Given the description of an element on the screen output the (x, y) to click on. 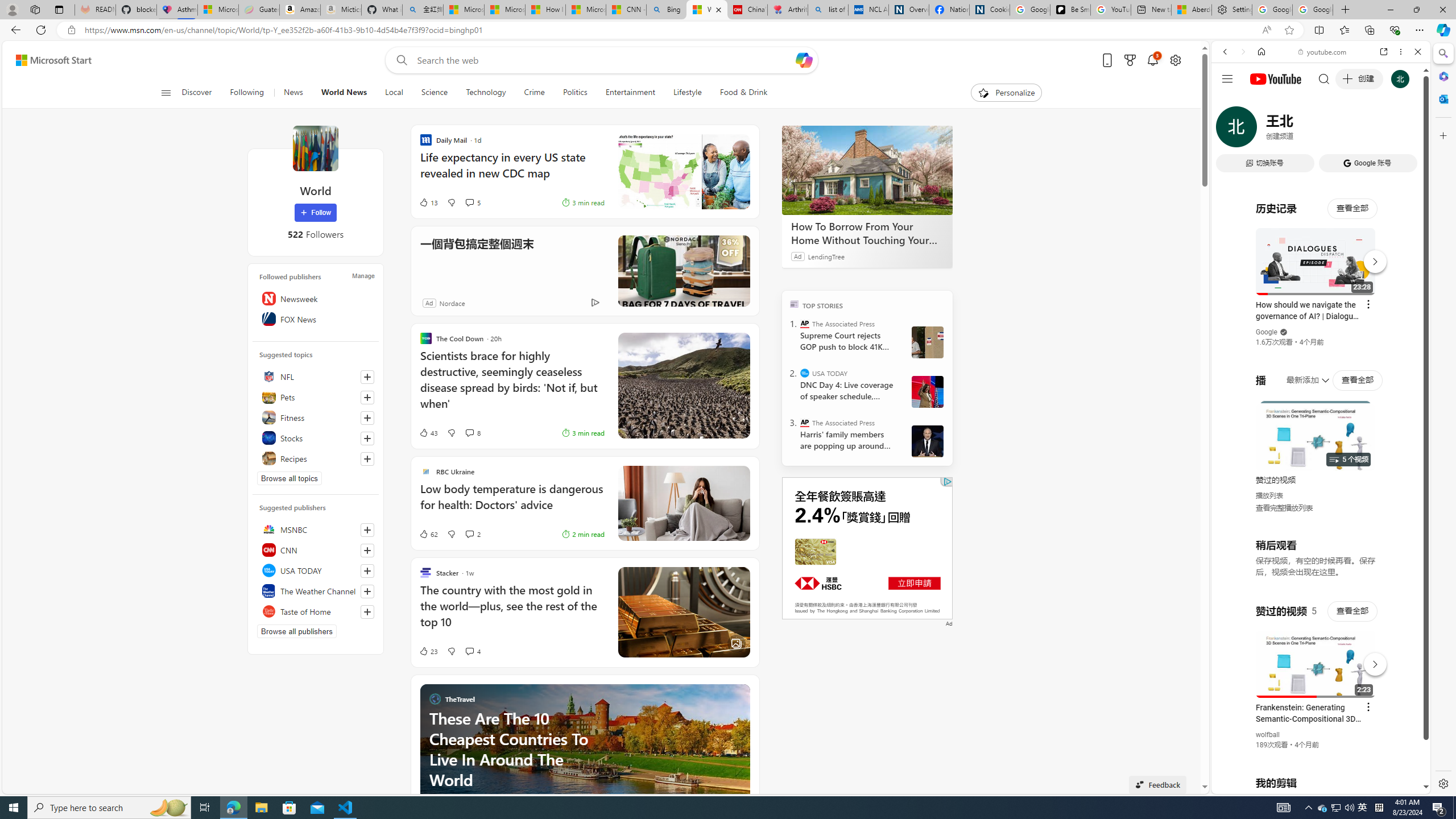
How To Borrow From Your Home Without Touching Your Mortgage (866, 232)
Trailer #2 [HD] (1320, 337)
Manage (362, 275)
Google (1266, 331)
World - MSN (706, 9)
Illustrative photo (Freepik) (683, 503)
Lifestyle (686, 92)
